Given the description of an element on the screen output the (x, y) to click on. 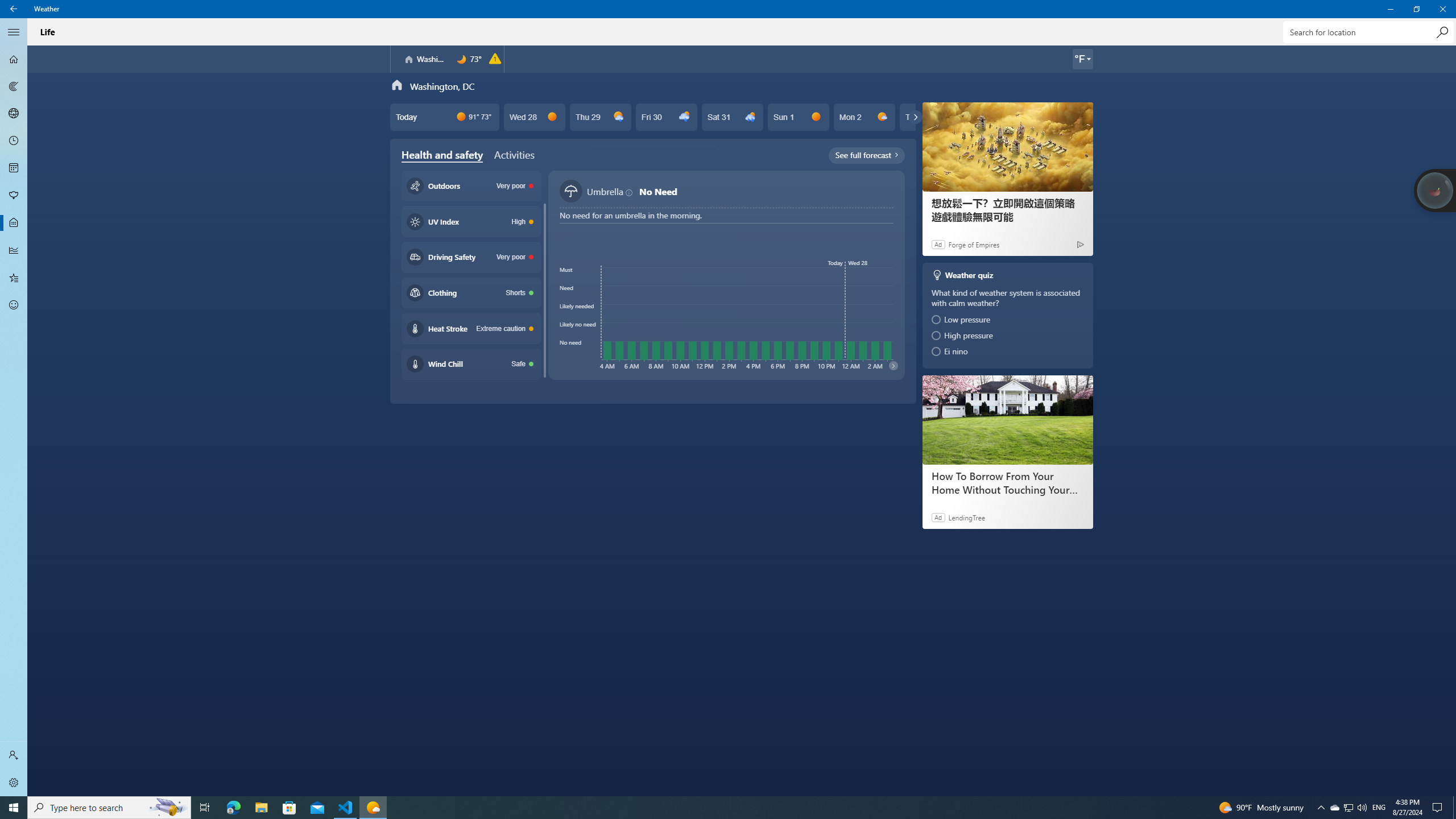
Close Weather (1442, 9)
Favorites - Not Selected (13, 277)
Restore Weather (1416, 9)
Minimize Weather (1390, 9)
Life - Not Selected (13, 222)
